Given the description of an element on the screen output the (x, y) to click on. 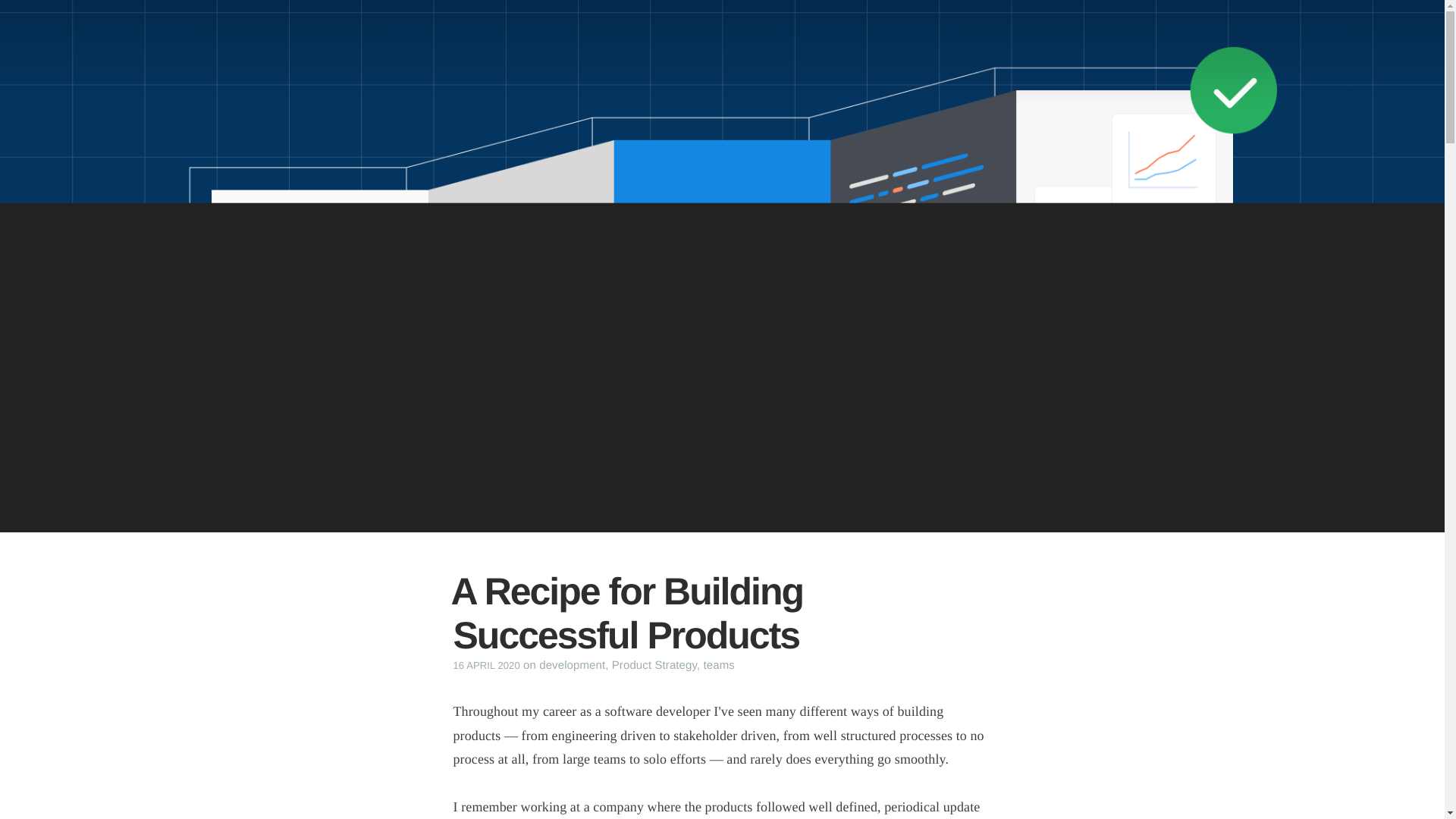
development (571, 665)
Product Strategy (654, 665)
teams (719, 665)
